Given the description of an element on the screen output the (x, y) to click on. 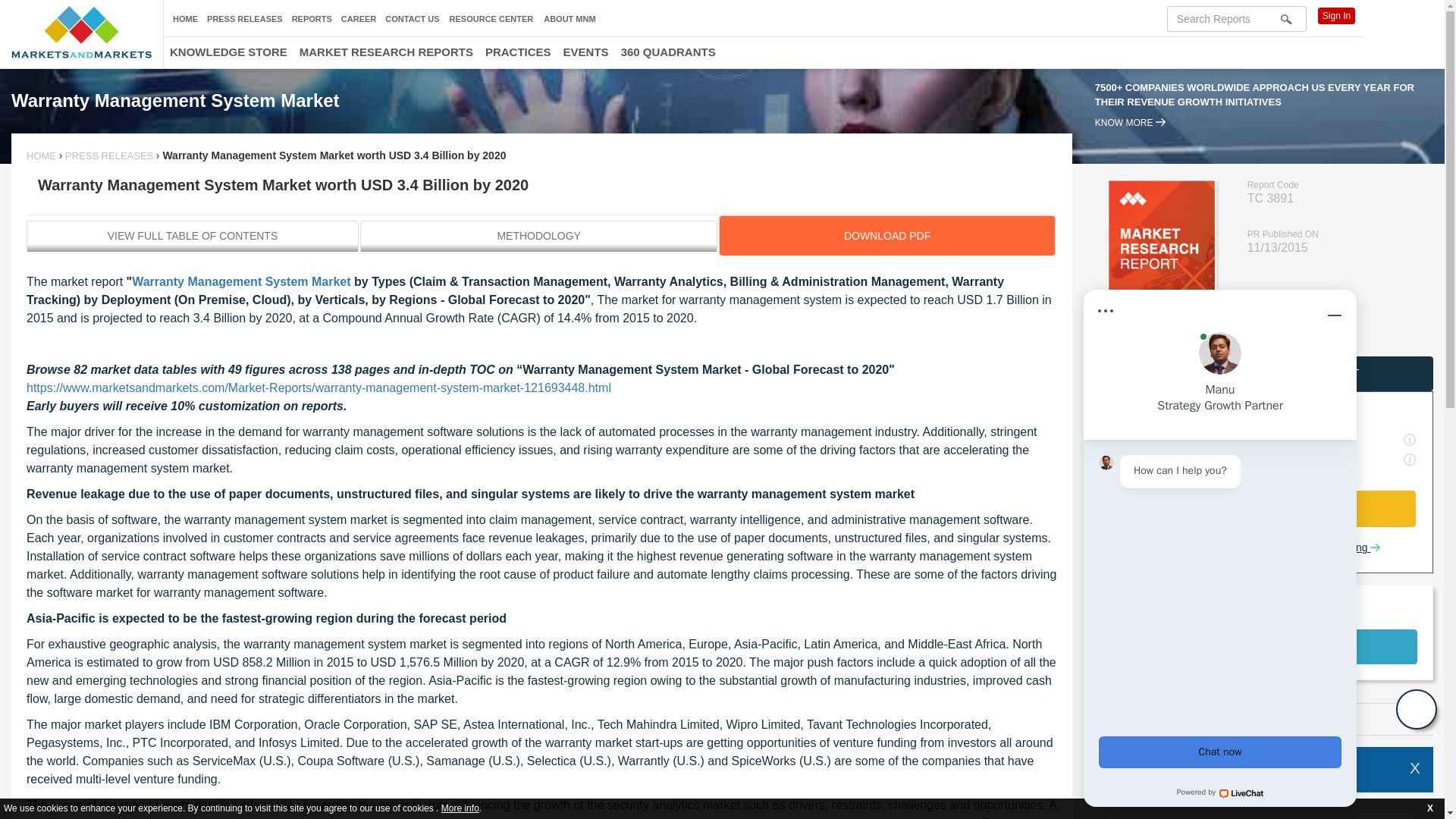
HOME (185, 18)
Press release (108, 155)
DOWNLOAD PDF (886, 235)
REQUEST FREE SAMPLE REPORT (1263, 373)
Market Research Firm (42, 155)
CAREER (357, 18)
Email (1108, 718)
METHODOLOGY (538, 235)
Market Research Firm (81, 31)
More info (1263, 815)
VIEW FULL TABLE OF CONTENTS (460, 808)
Request New Version (192, 235)
